Given the description of an element on the screen output the (x, y) to click on. 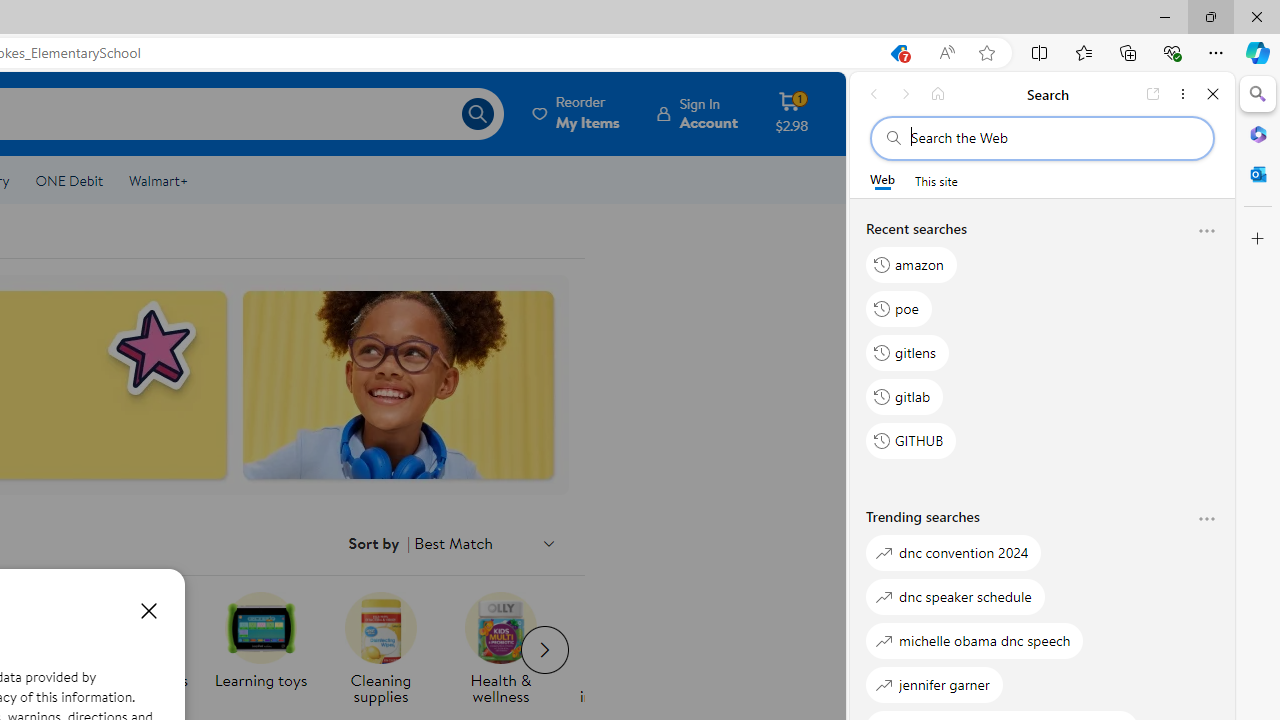
amazon (911, 264)
dnc speaker schedule (955, 596)
michelle obama dnc speech (975, 640)
gitlens (907, 352)
